Given the description of an element on the screen output the (x, y) to click on. 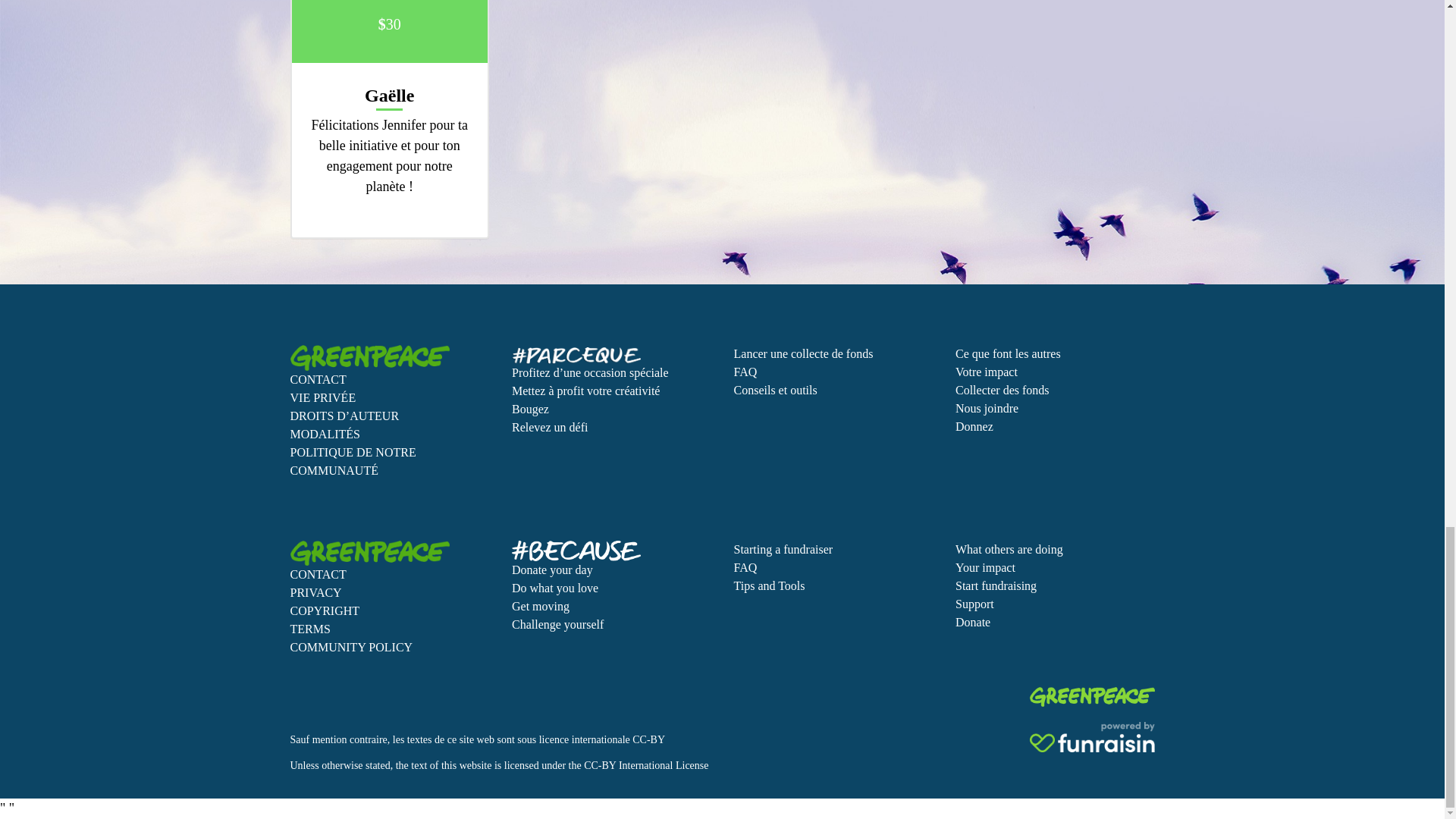
Greenpeace Canada (1091, 696)
